Given the description of an element on the screen output the (x, y) to click on. 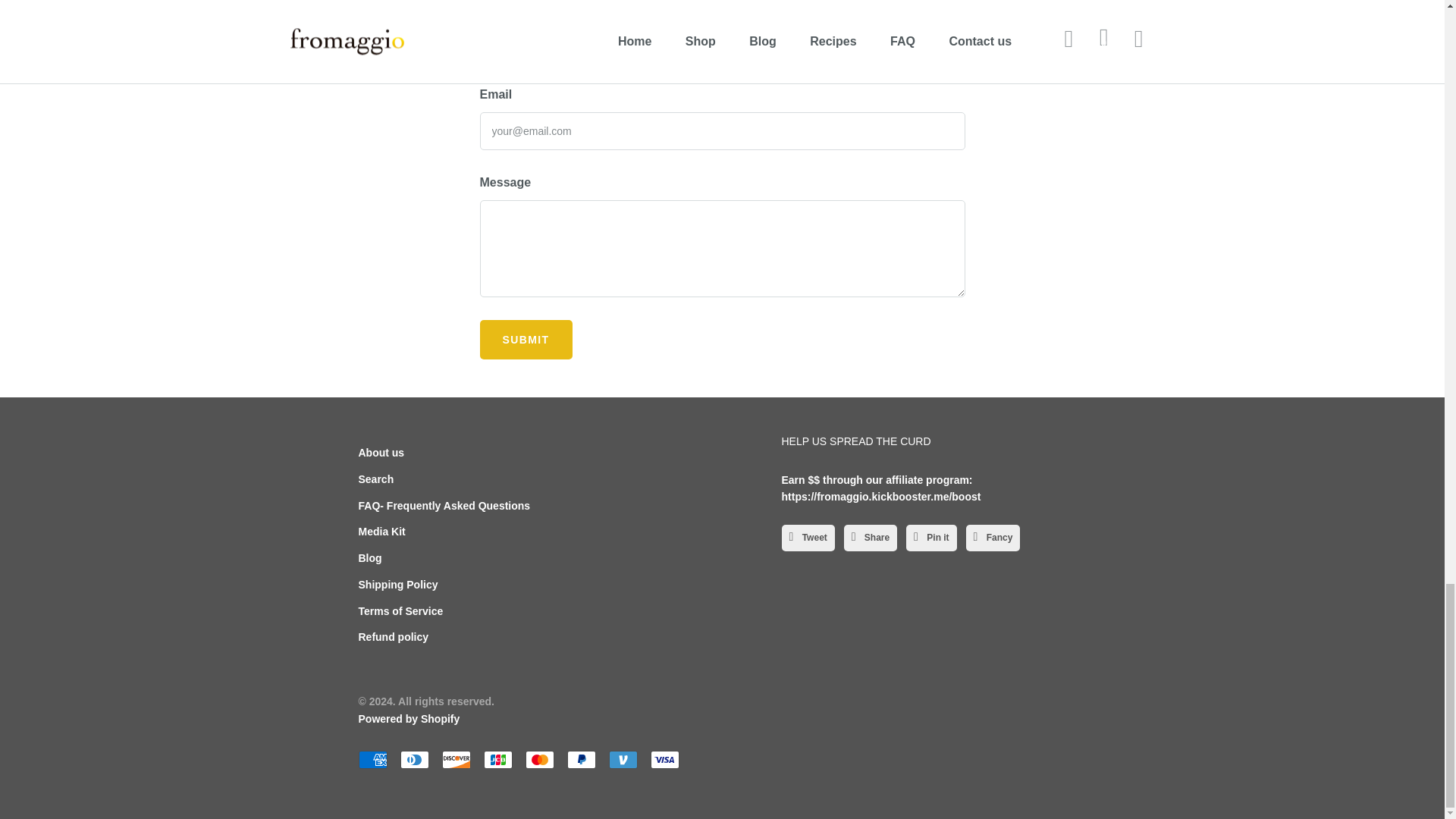
Fancy (993, 537)
Terms of Service (400, 611)
Pin it (930, 537)
About us (381, 452)
Submit (525, 339)
Refund policy (393, 636)
FAQ- Frequently Asked Questions (443, 504)
Share (871, 537)
Media Kit (381, 531)
Blog (369, 558)
Powered by Shopify (409, 718)
Shipping Policy (398, 584)
Search (375, 479)
Tweet (807, 537)
Submit (525, 339)
